Given the description of an element on the screen output the (x, y) to click on. 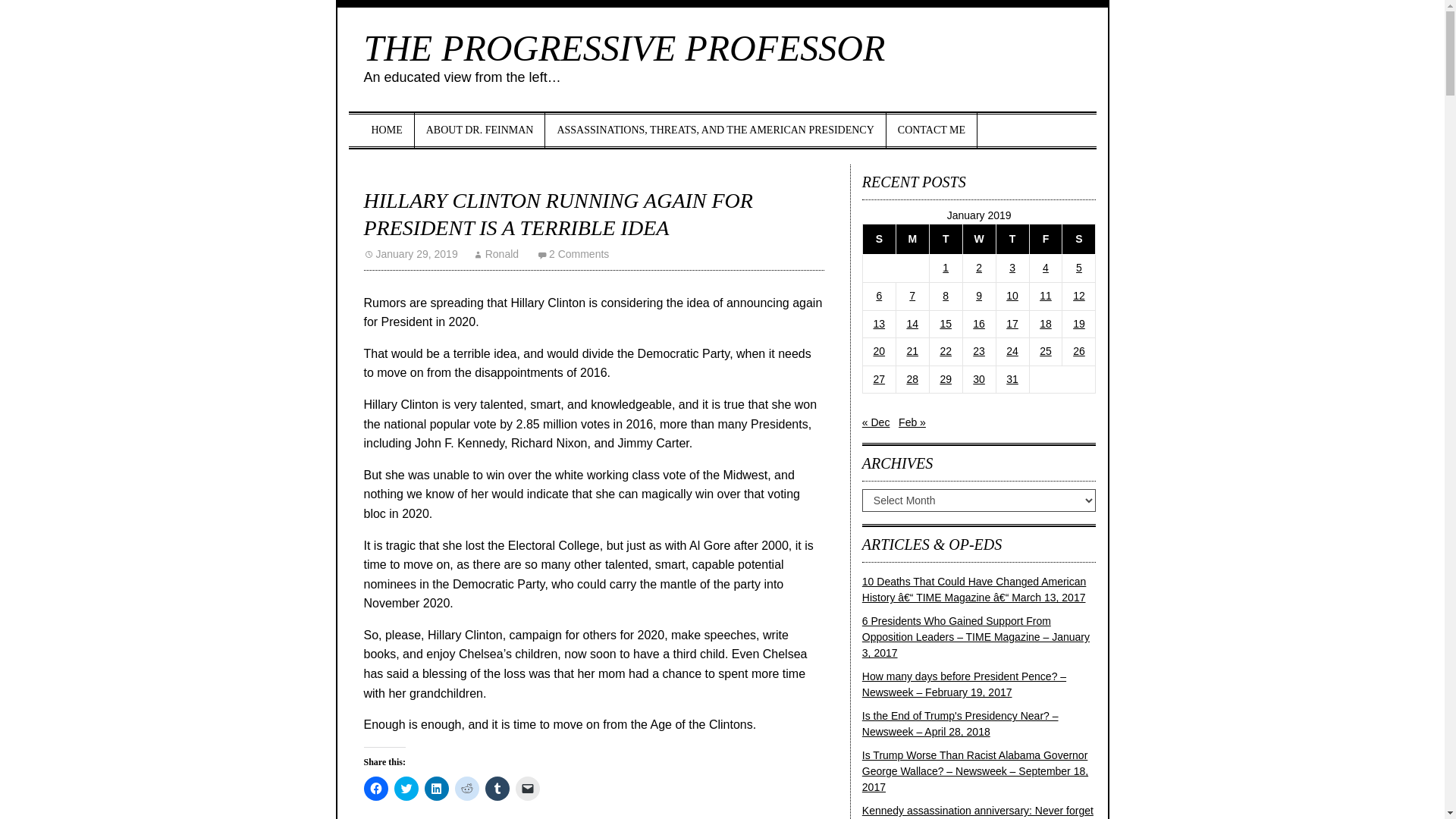
Click to share on Reddit (466, 788)
CONTACT ME (931, 130)
Contact Me (931, 130)
THE PROGRESSIVE PROFESSOR (624, 47)
Click to share on Tumblr (496, 788)
2 Comments (572, 254)
5 (1078, 267)
Ronald (495, 254)
2 (978, 267)
8 (945, 295)
Click to email a link to a friend (527, 788)
4 (1045, 267)
Click to share on Twitter (406, 788)
ASSASSINATIONS, THREATS, AND THE AMERICAN PRESIDENCY (714, 130)
3 (1011, 267)
